Given the description of an element on the screen output the (x, y) to click on. 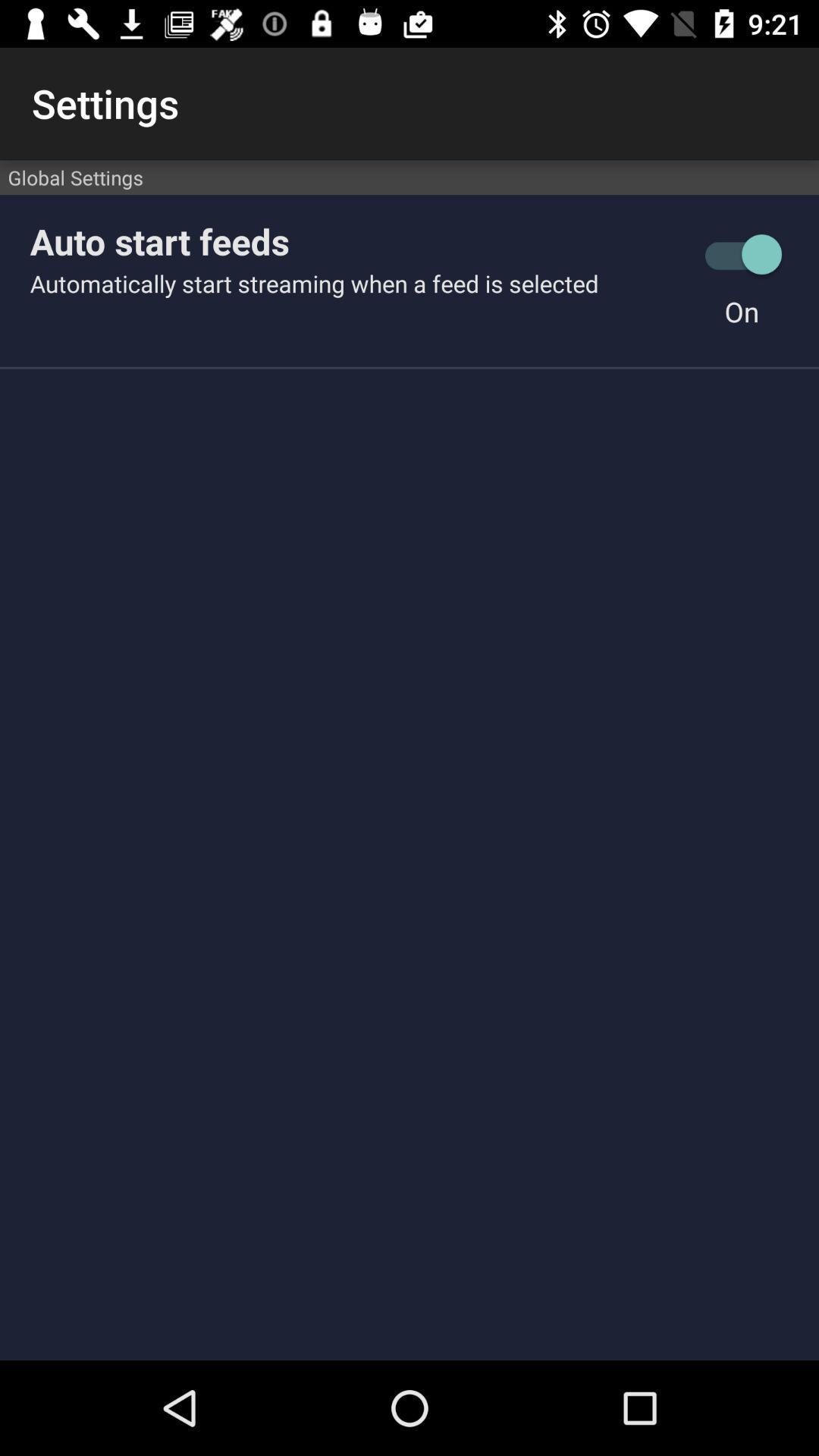
select app below the settings (409, 177)
